Given the description of an element on the screen output the (x, y) to click on. 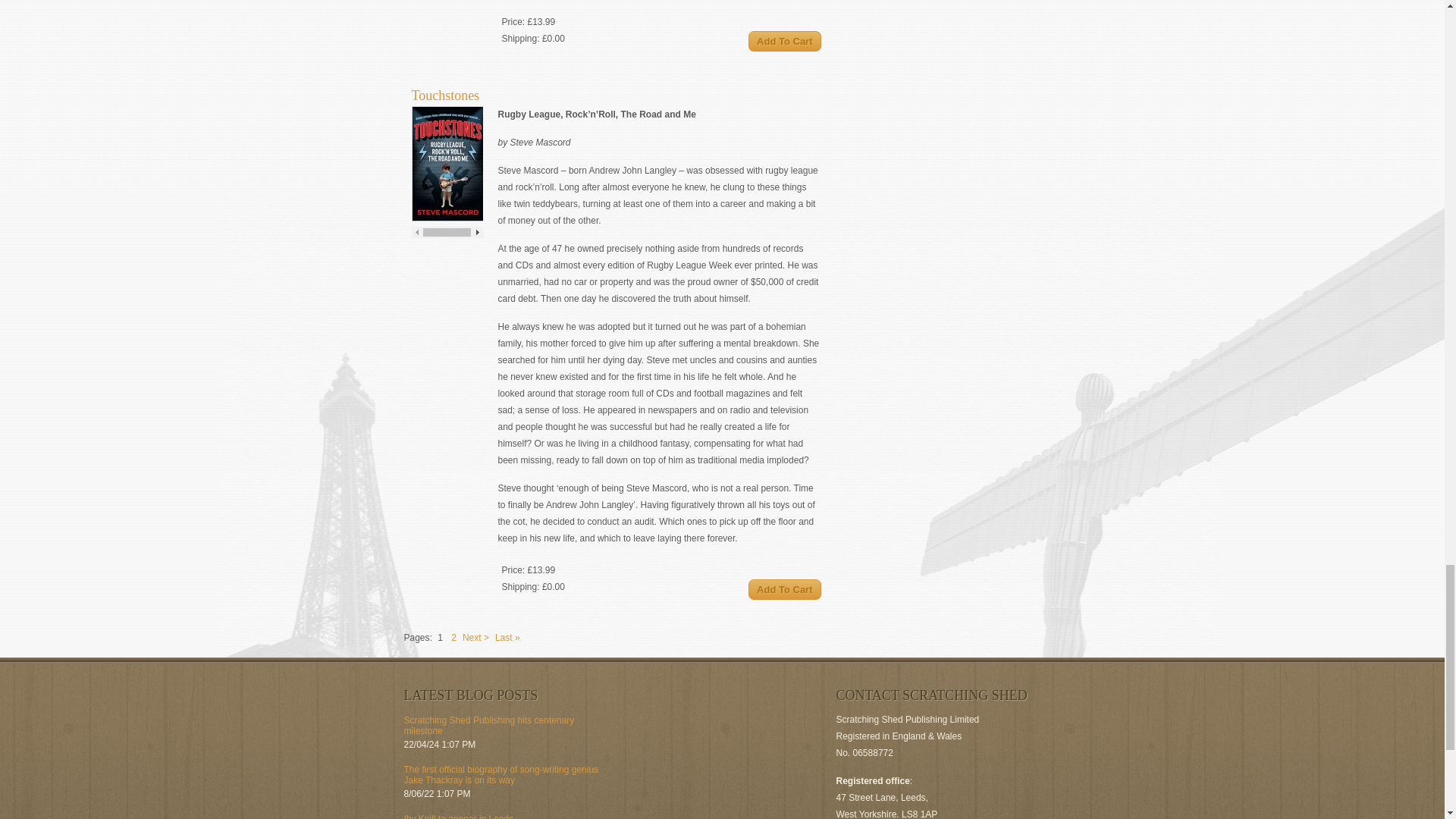
Add To Cart (784, 41)
Add To Cart (784, 589)
